Given the description of an element on the screen output the (x, y) to click on. 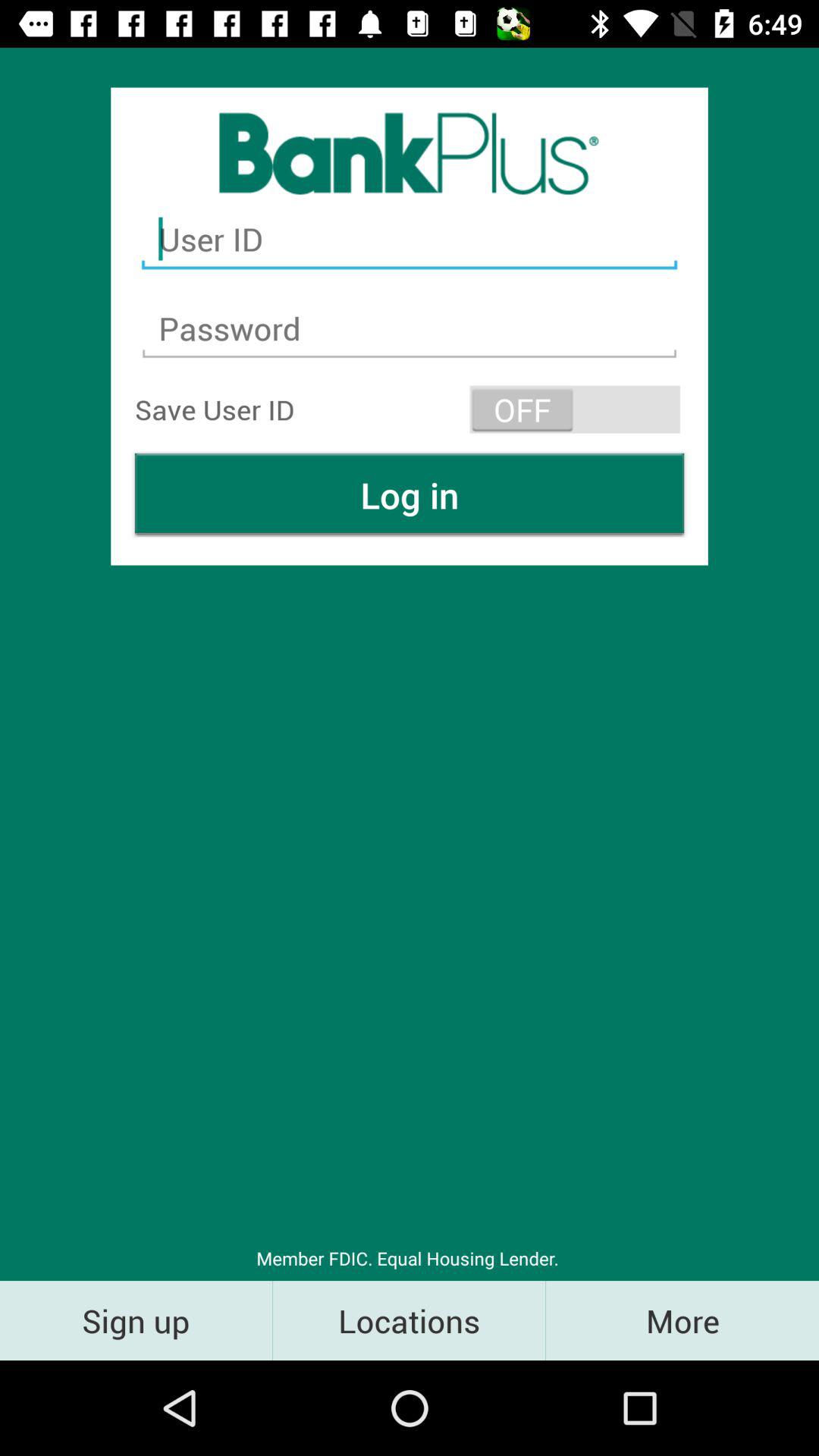
choose more icon (682, 1320)
